Given the description of an element on the screen output the (x, y) to click on. 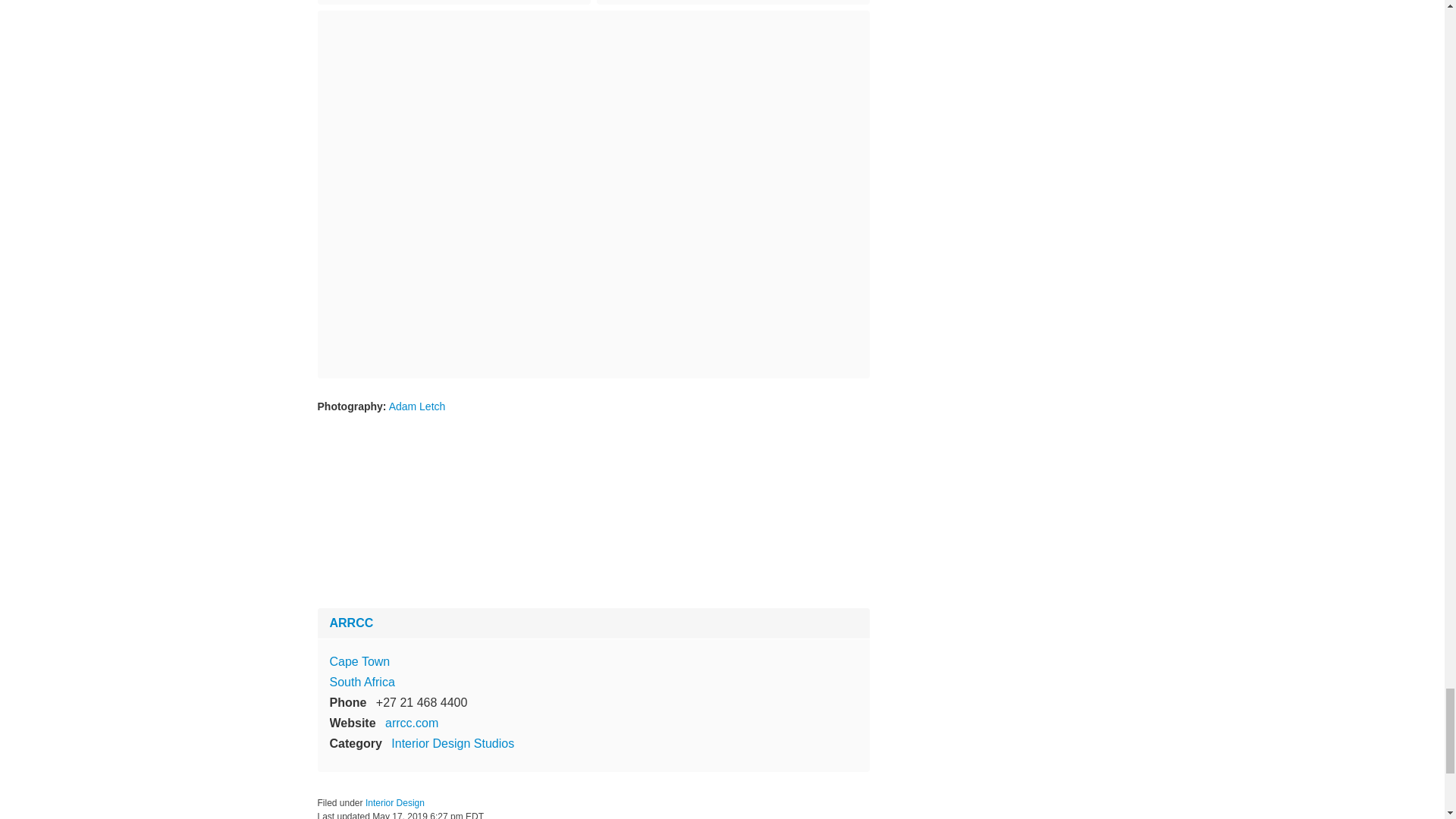
ARRCC (350, 622)
South Africa (361, 681)
Cape Town (359, 661)
View on Map (359, 661)
Interior Design (395, 802)
Interior Design Studios (452, 743)
Adam Letch (416, 406)
arrcc.com (411, 722)
